Given the description of an element on the screen output the (x, y) to click on. 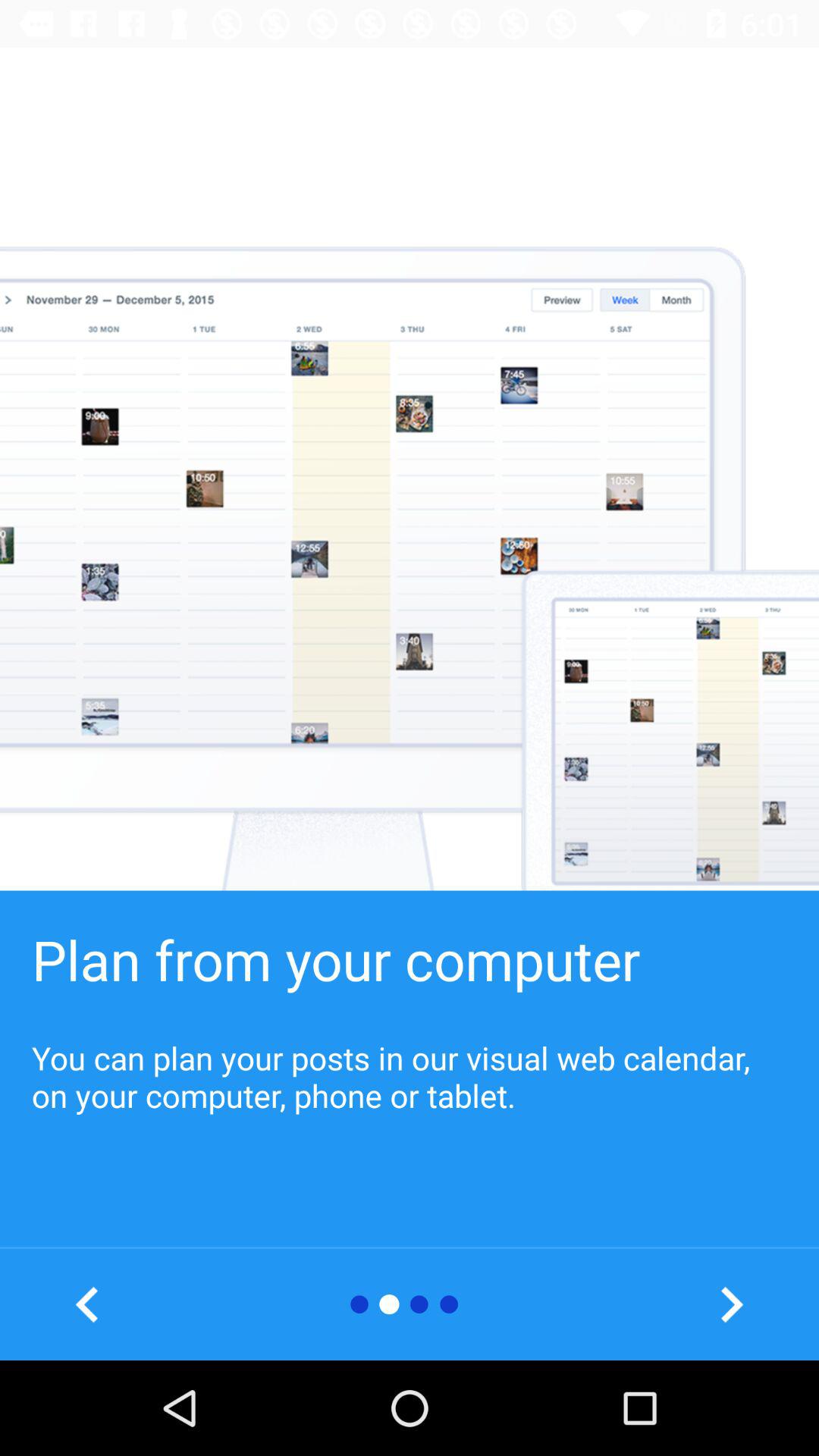
go back screen (87, 1304)
